Given the description of an element on the screen output the (x, y) to click on. 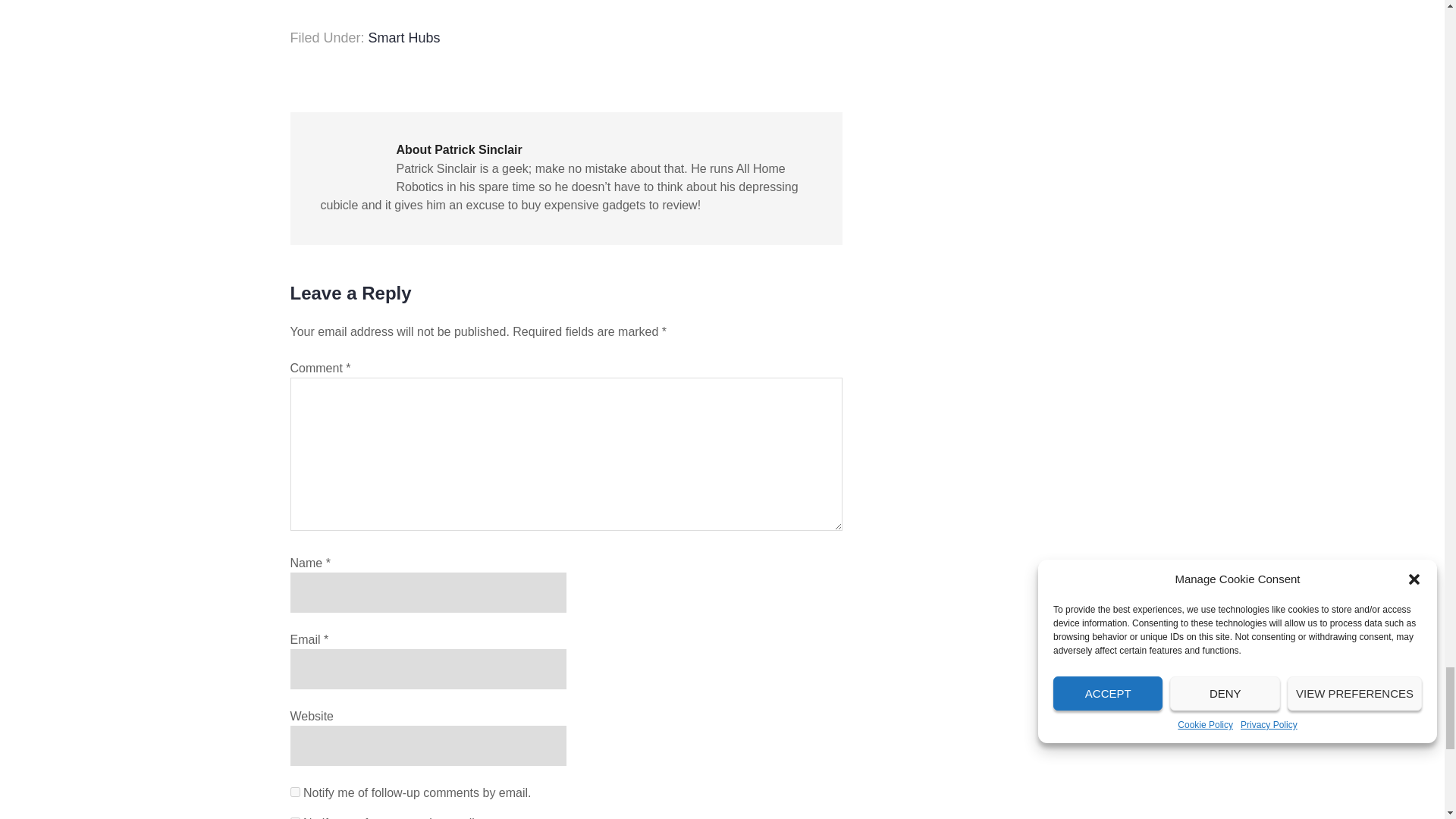
subscribe (294, 791)
